Given the description of an element on the screen output the (x, y) to click on. 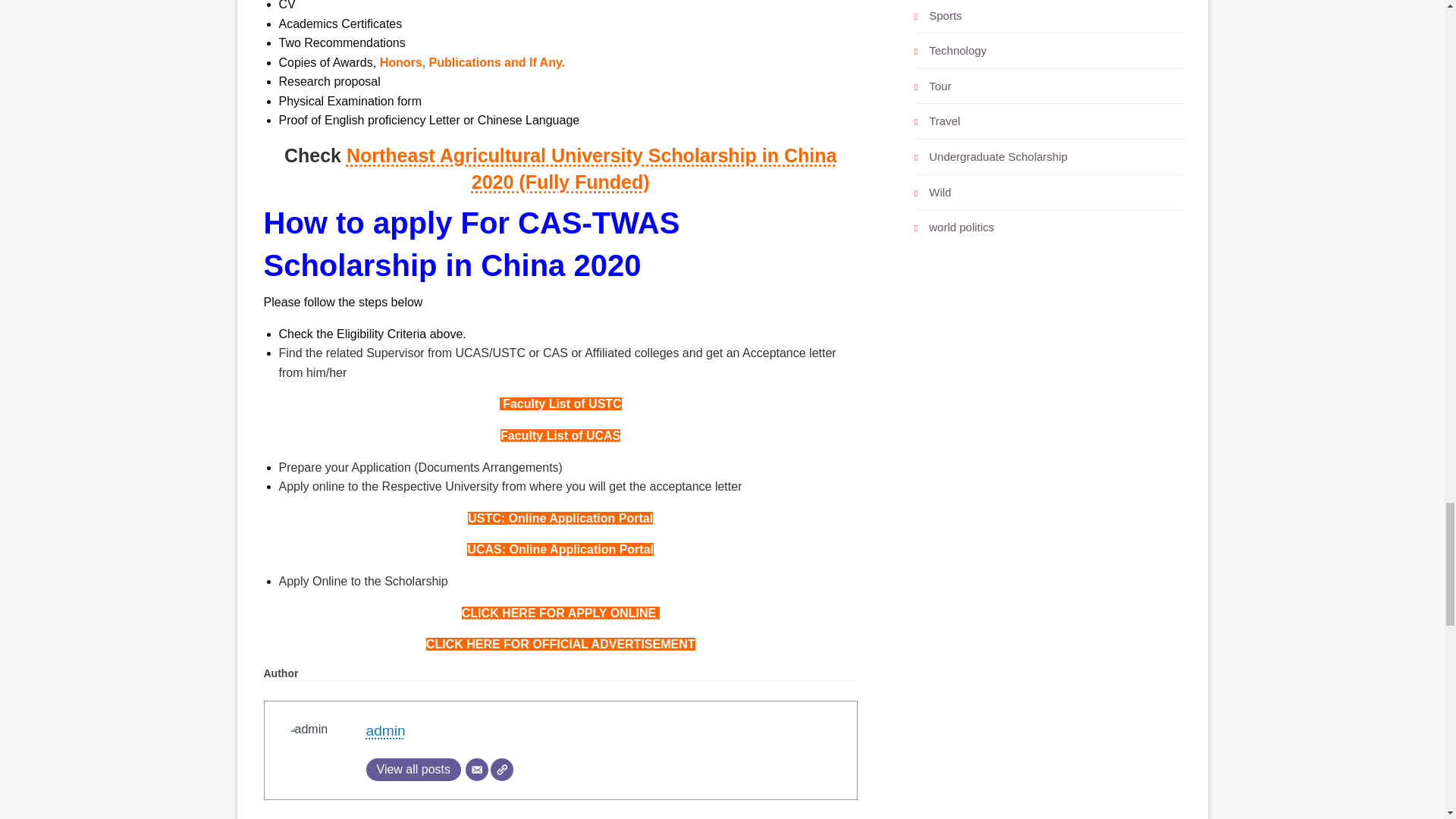
admin (384, 730)
View all posts (413, 769)
